Given the description of an element on the screen output the (x, y) to click on. 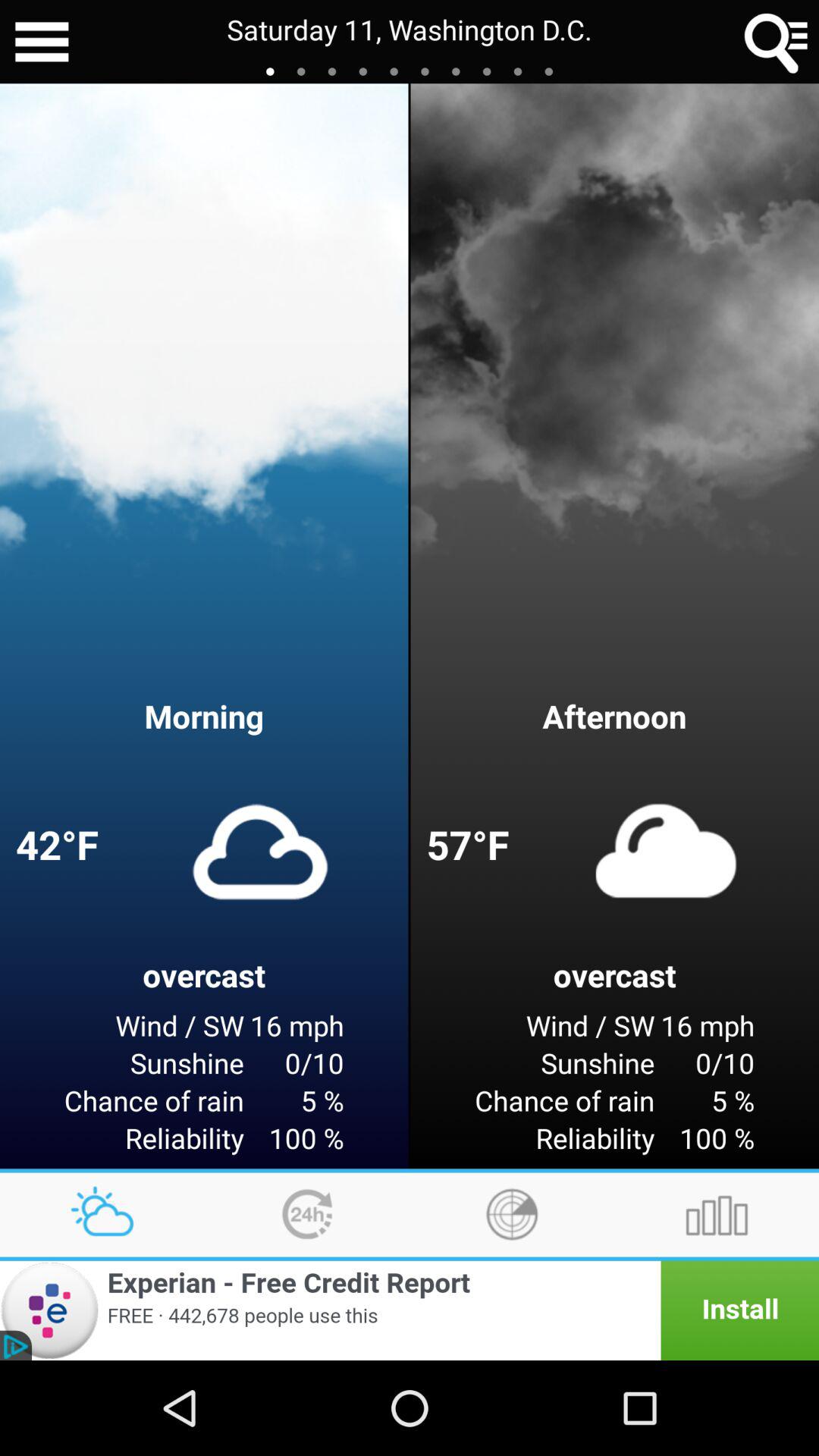
press the icon next to the saturday 11 washington item (41, 41)
